Given the description of an element on the screen output the (x, y) to click on. 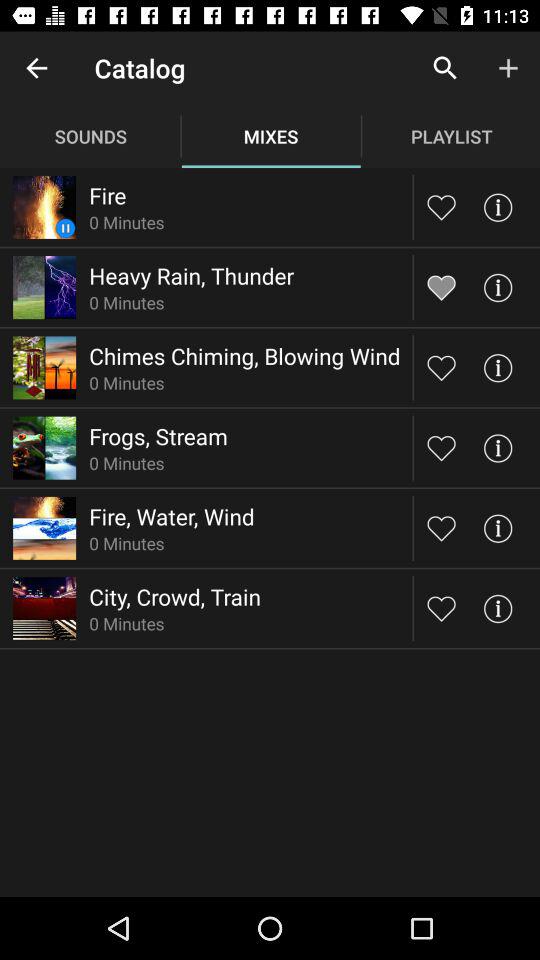
press icon above sounds icon (36, 68)
